Given the description of an element on the screen output the (x, y) to click on. 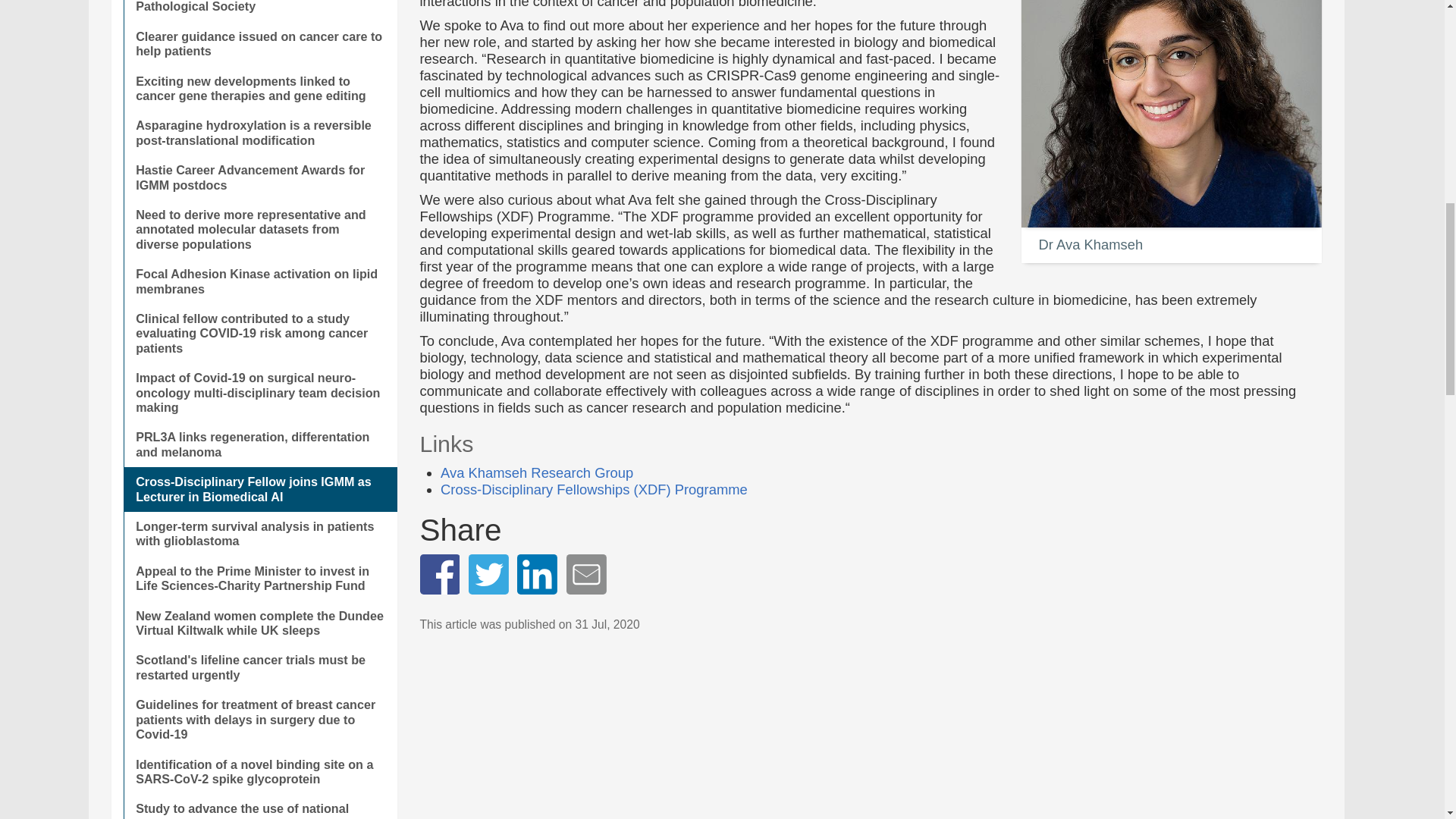
PRL3A links regeneration, differentation and melanoma (259, 444)
Mark Arends named next President of the Pathological Society (259, 11)
Longer-term survival analysis in patients with glioblastoma (259, 533)
Focal Adhesion Kinase activation on lipid membranes (259, 281)
Scotland's lifeline cancer trials must be restarted urgently (259, 667)
